Given the description of an element on the screen output the (x, y) to click on. 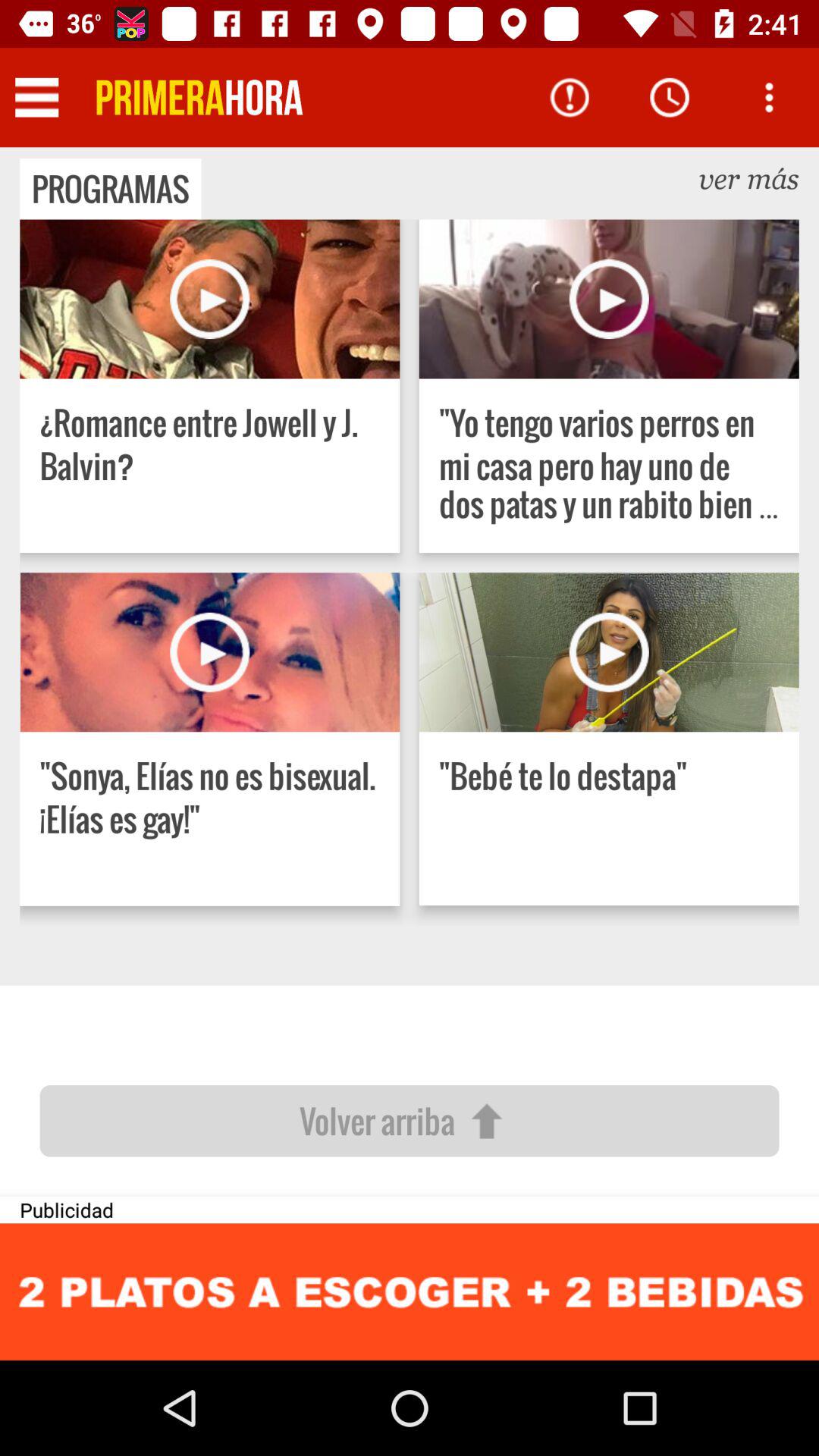
open options (769, 97)
